Given the description of an element on the screen output the (x, y) to click on. 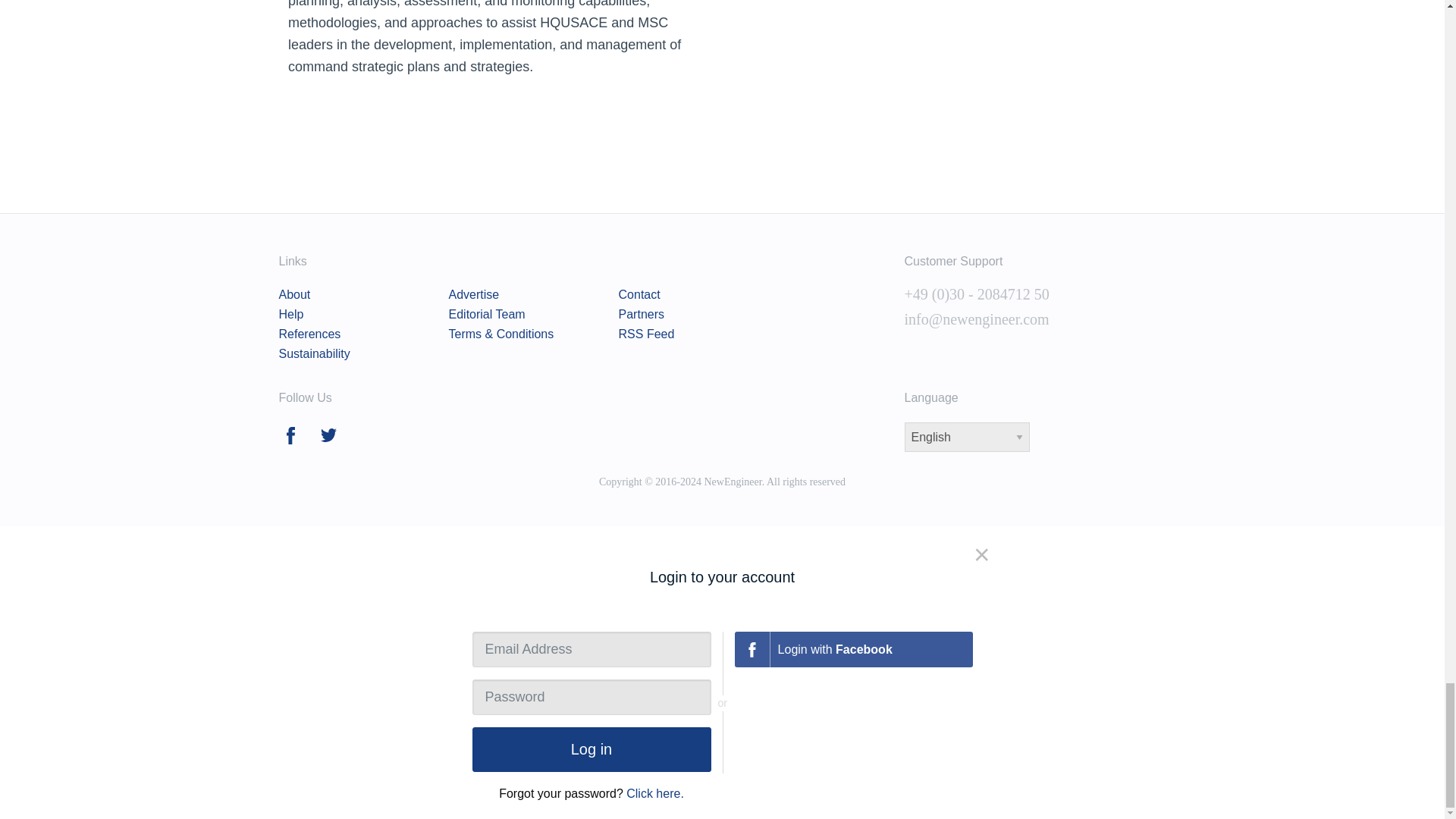
Log in (590, 749)
